Given the description of an element on the screen output the (x, y) to click on. 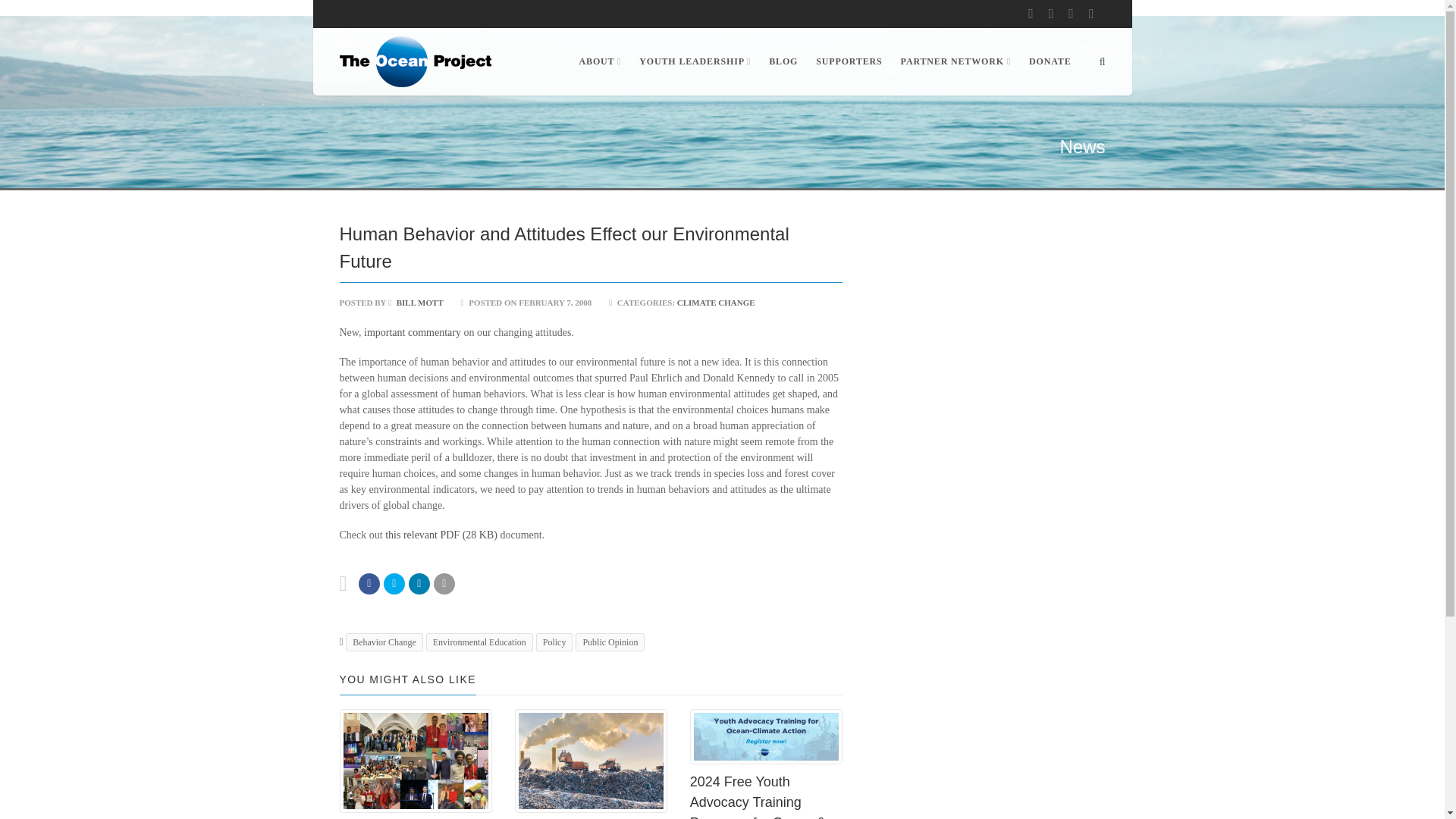
YOUTH LEADERSHIP (695, 61)
Email (419, 583)
AT Zoom Registration Banner (766, 736)
Tweet (394, 583)
ABOUT (600, 61)
The Ocean Project (415, 61)
Email (443, 583)
SUPPORTERS (848, 61)
PARTNER NETWORK (955, 61)
Share on Facebook (369, 583)
